Given the description of an element on the screen output the (x, y) to click on. 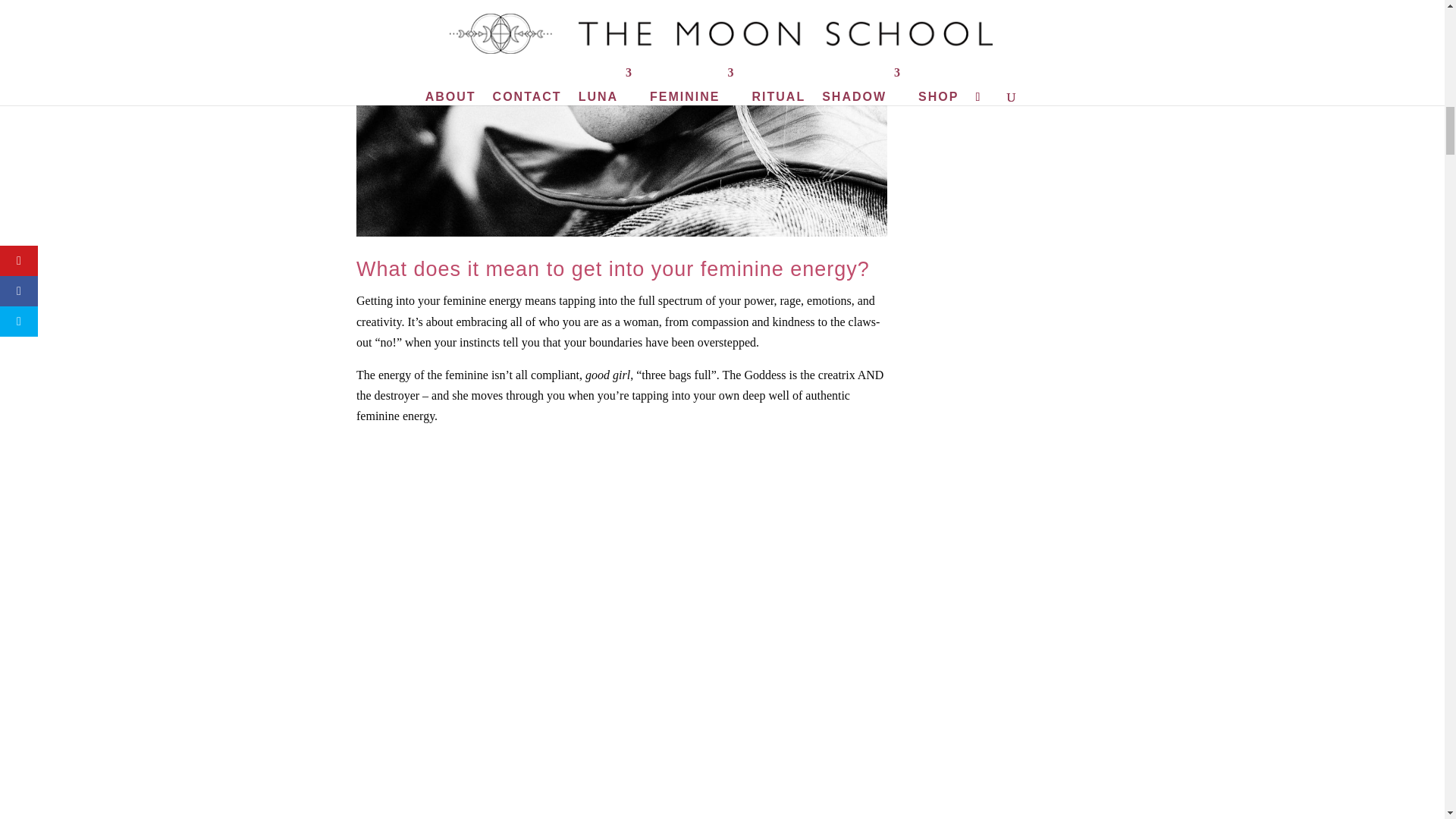
Sacred Cycles Ebook Ad Pin (1045, 88)
What does it mean to get into your feminine energy? (621, 118)
